Given the description of an element on the screen output the (x, y) to click on. 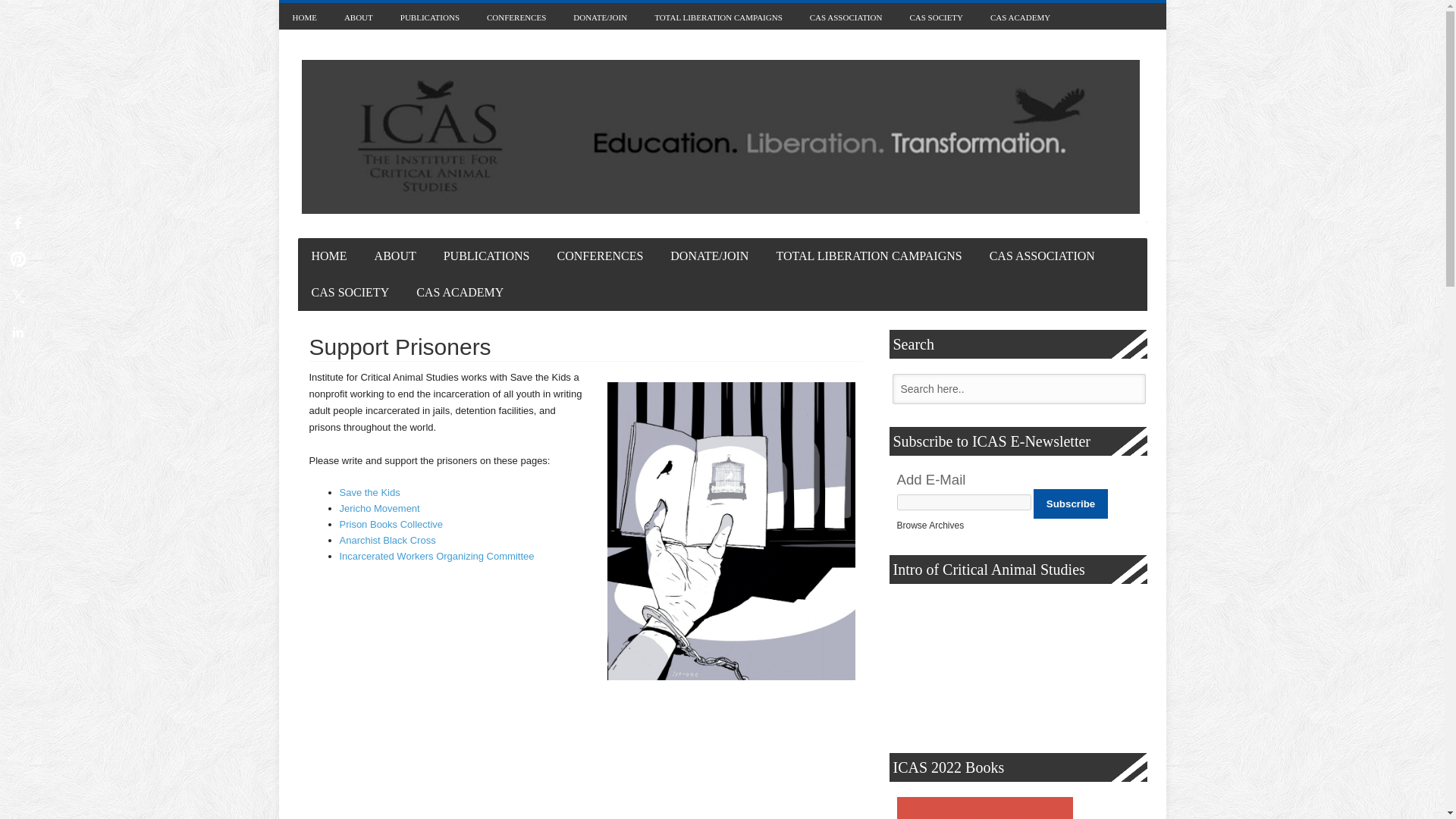
CONFERENCES (516, 16)
HOME (304, 16)
Search here.. (1018, 388)
ABOUT (358, 16)
PUBLICATIONS (430, 16)
Subscribe (1070, 503)
Search here.. (1018, 388)
